Given the description of an element on the screen output the (x, y) to click on. 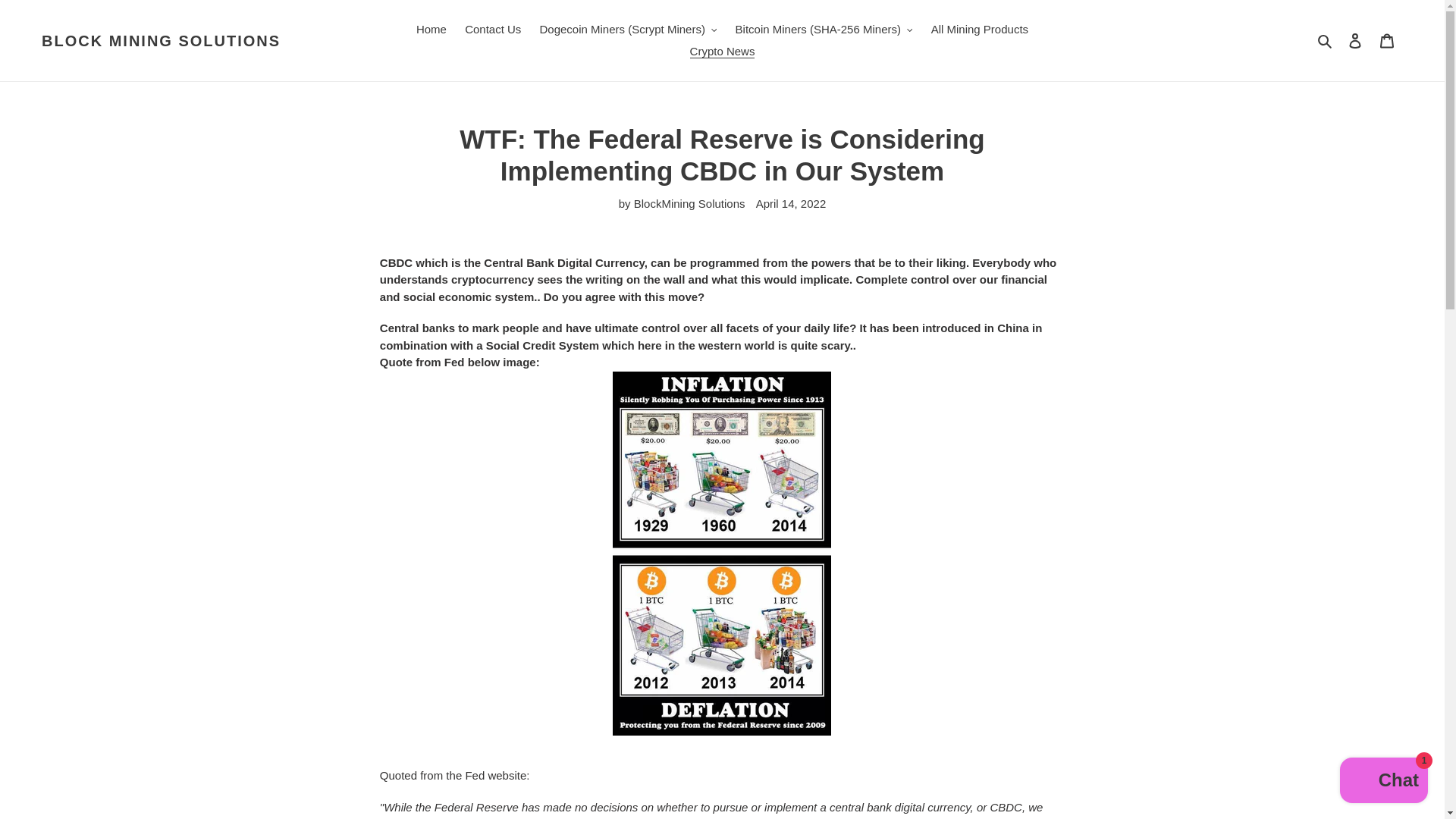
Cart (1387, 40)
Log in (1355, 40)
BLOCK MINING SOLUTIONS (161, 40)
All Mining Products (979, 29)
Shopify online store chat (1383, 781)
Contact Us (492, 29)
Crypto News (722, 51)
Home (431, 29)
Search (1326, 40)
